Given the description of an element on the screen output the (x, y) to click on. 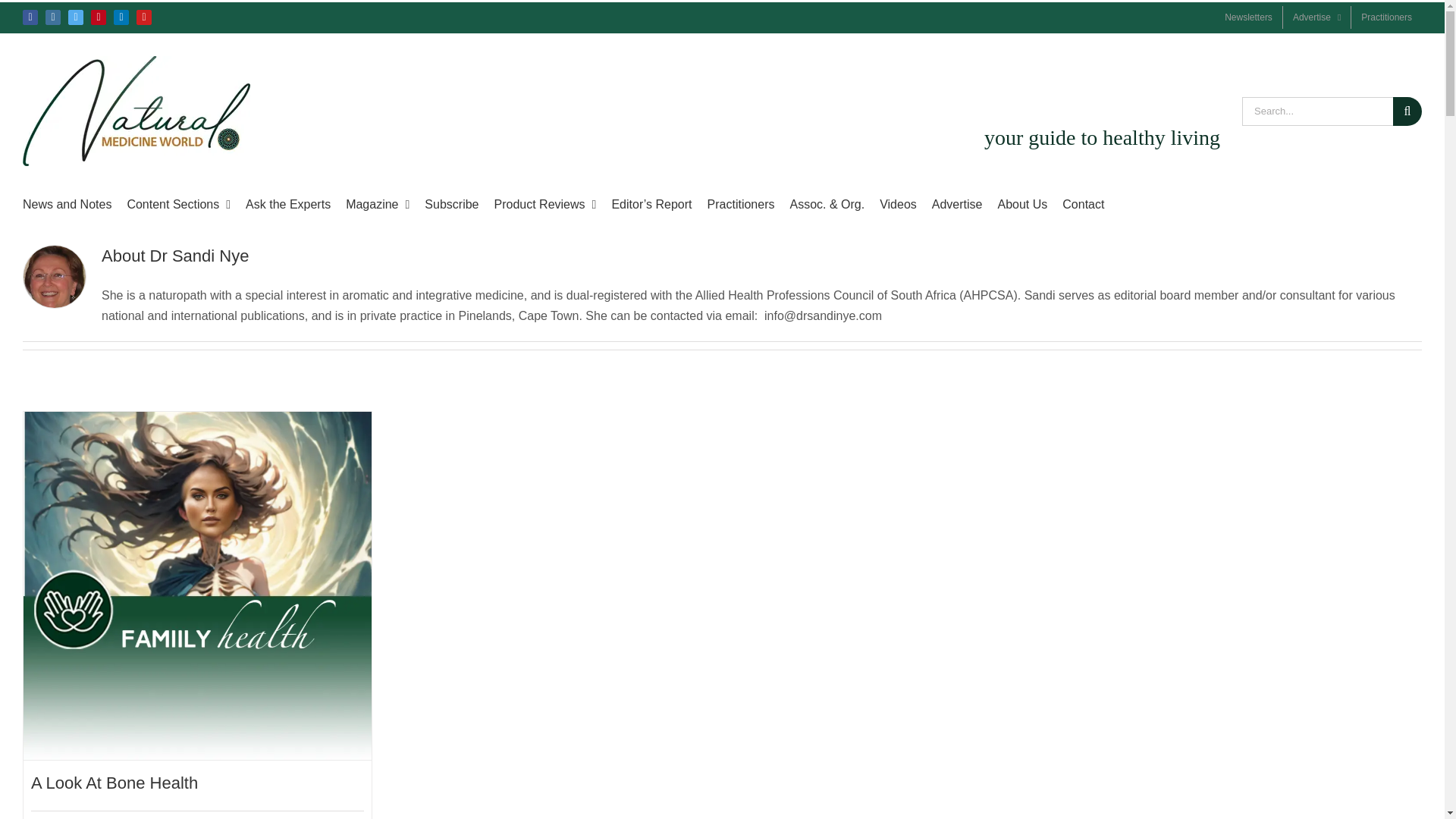
YouTube (143, 17)
Instagram (53, 17)
Instagram (53, 17)
Facebook (30, 17)
Content Sections (178, 204)
Facebook (30, 17)
Advertise (1316, 16)
Magazine (377, 204)
LinkedIn (121, 17)
YouTube (143, 17)
Ask the Experts (288, 204)
Pinterest (98, 17)
News and Notes (67, 204)
Pinterest (98, 17)
